Given the description of an element on the screen output the (x, y) to click on. 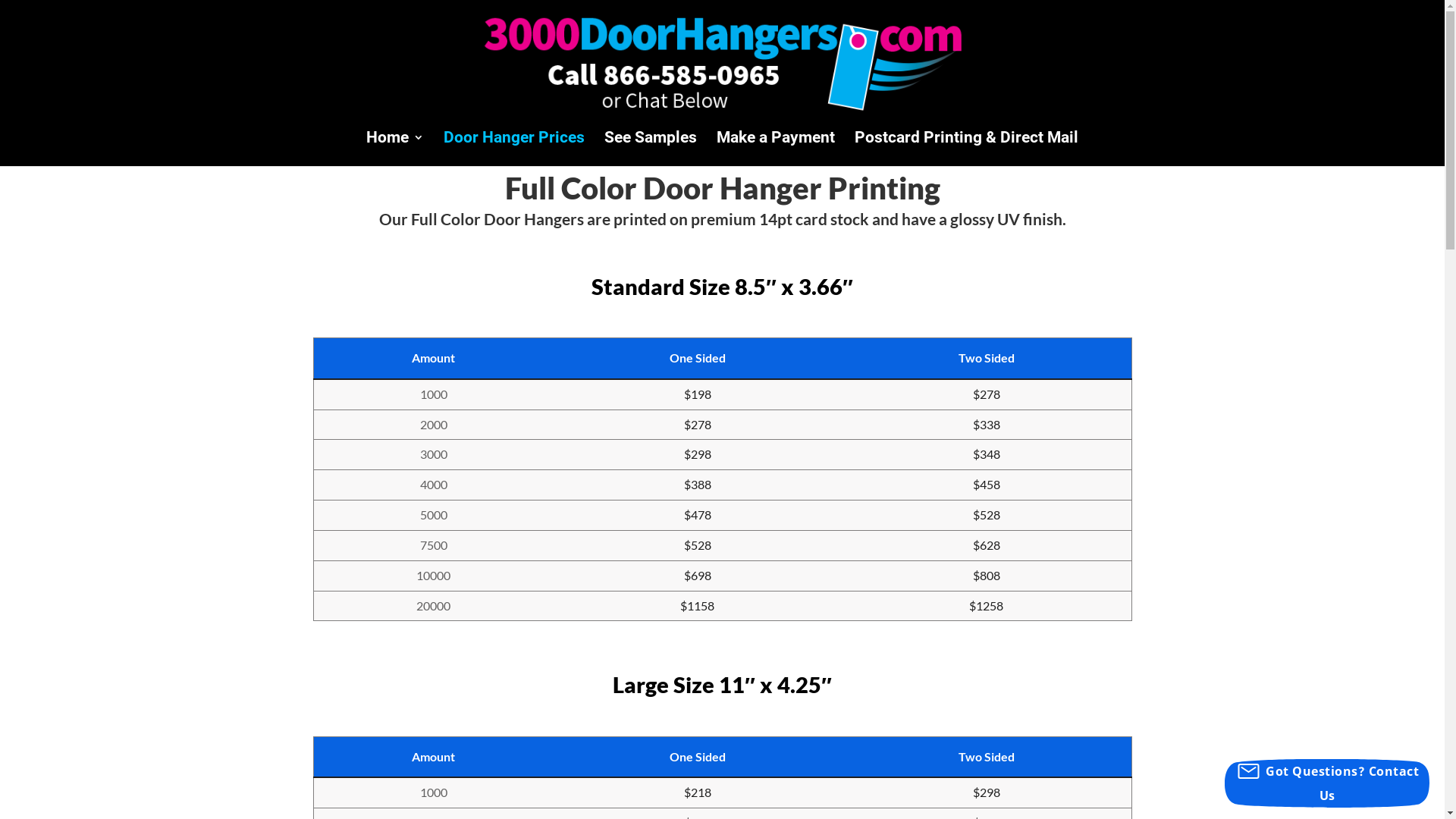
Door Hanger Prices Element type: text (513, 148)
Home Element type: text (394, 148)
Make a Payment Element type: text (775, 148)
Got Questions? Contact Us Element type: text (1326, 783)
See Samples Element type: text (650, 148)
Postcard Printing & Direct Mail Element type: text (966, 148)
